Given the description of an element on the screen output the (x, y) to click on. 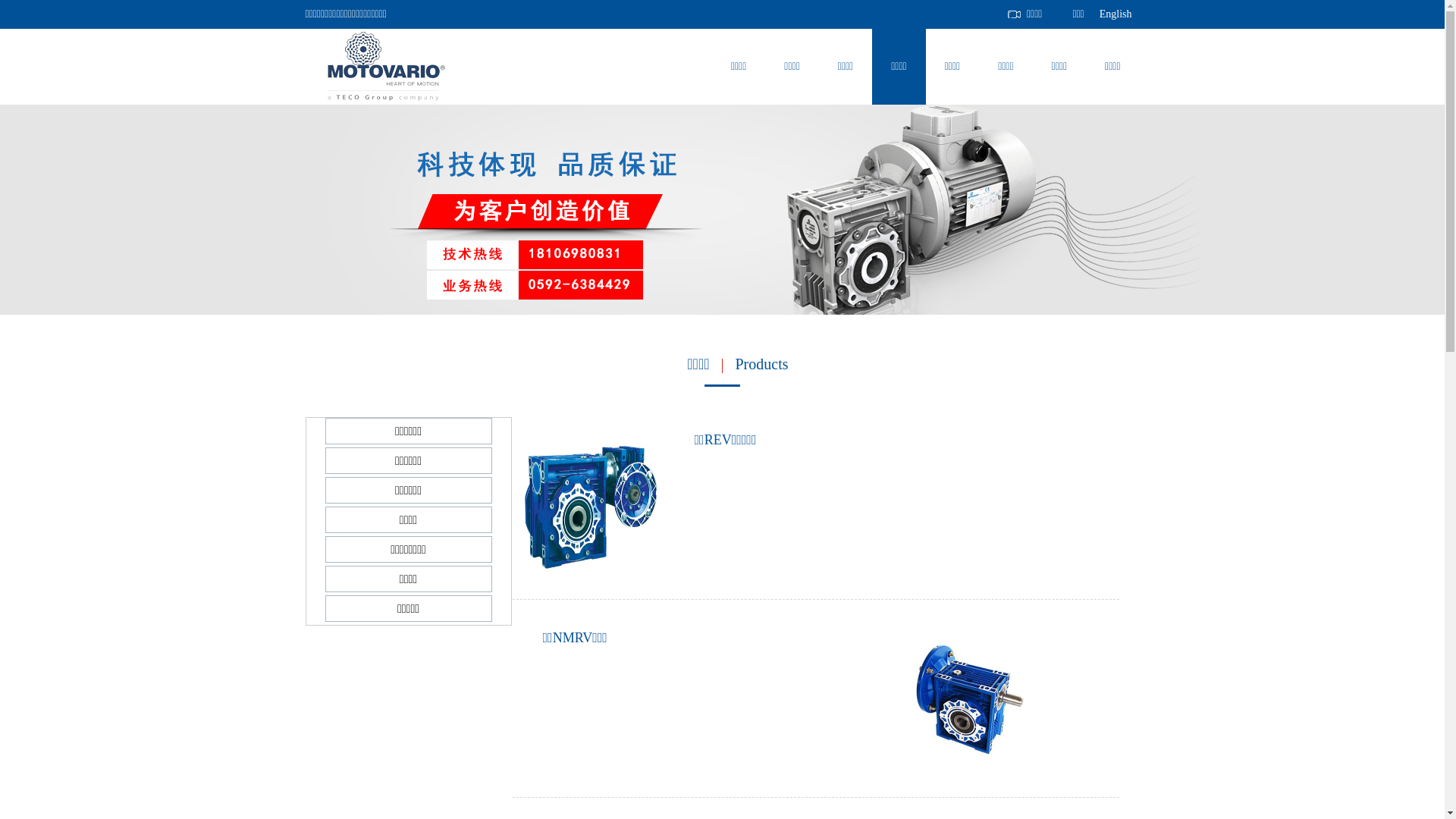
English Element type: text (1115, 13)
